Given the description of an element on the screen output the (x, y) to click on. 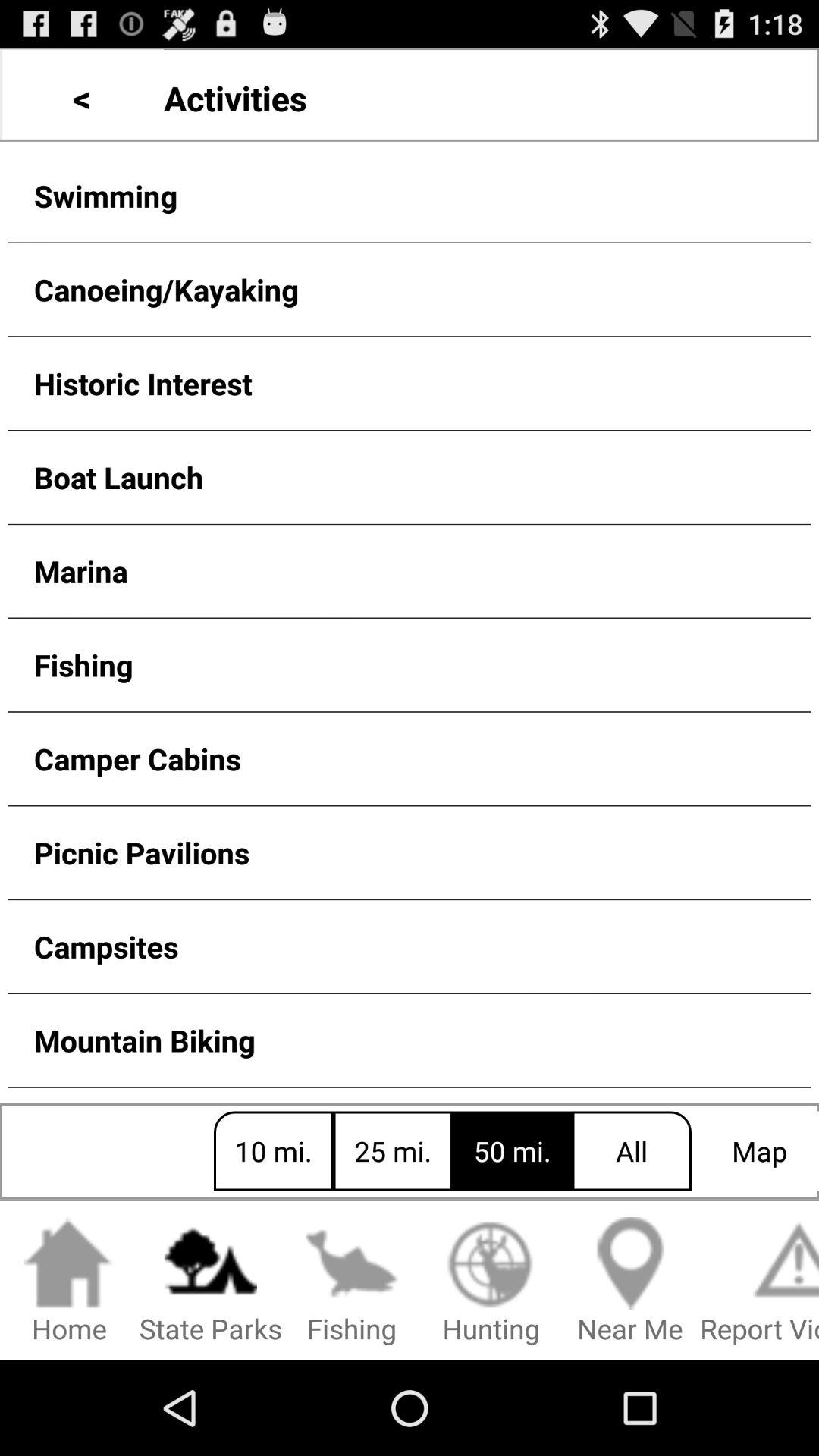
press the icon to the right of the home (210, 1282)
